Given the description of an element on the screen output the (x, y) to click on. 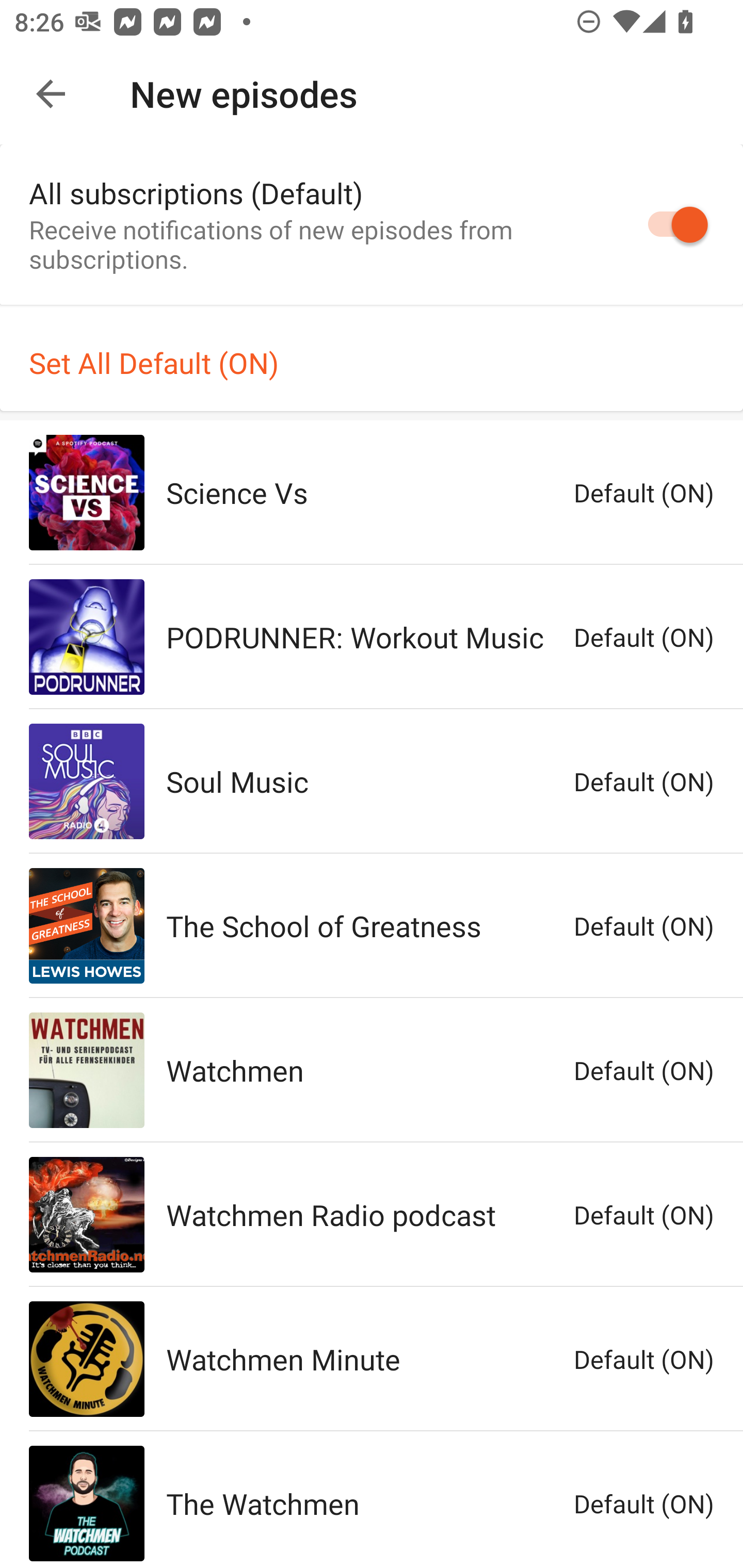
Navigate up (50, 93)
Set All Default (ON) (371, 361)
Science Vs Default (ON) (371, 492)
PODRUNNER: Workout Music Default (ON) (371, 636)
Soul Music Default (ON) (371, 780)
The School of Greatness Default (ON) (371, 925)
Watchmen Default (ON) (371, 1070)
Watchmen Radio podcast Default (ON) (371, 1215)
Watchmen Minute Default (ON) (371, 1359)
The Watchmen Default (ON) (371, 1499)
